Given the description of an element on the screen output the (x, y) to click on. 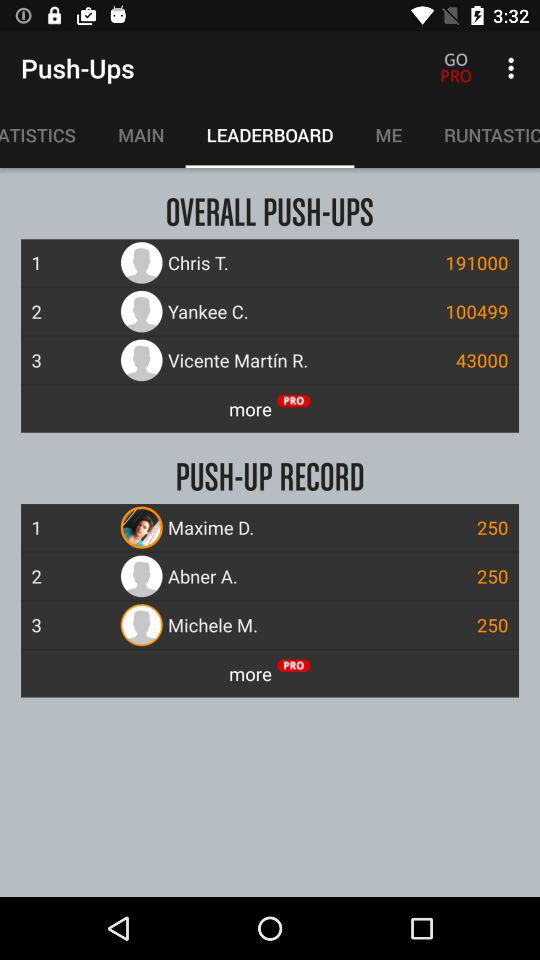
turn on item next to statistics item (141, 135)
